Given the description of an element on the screen output the (x, y) to click on. 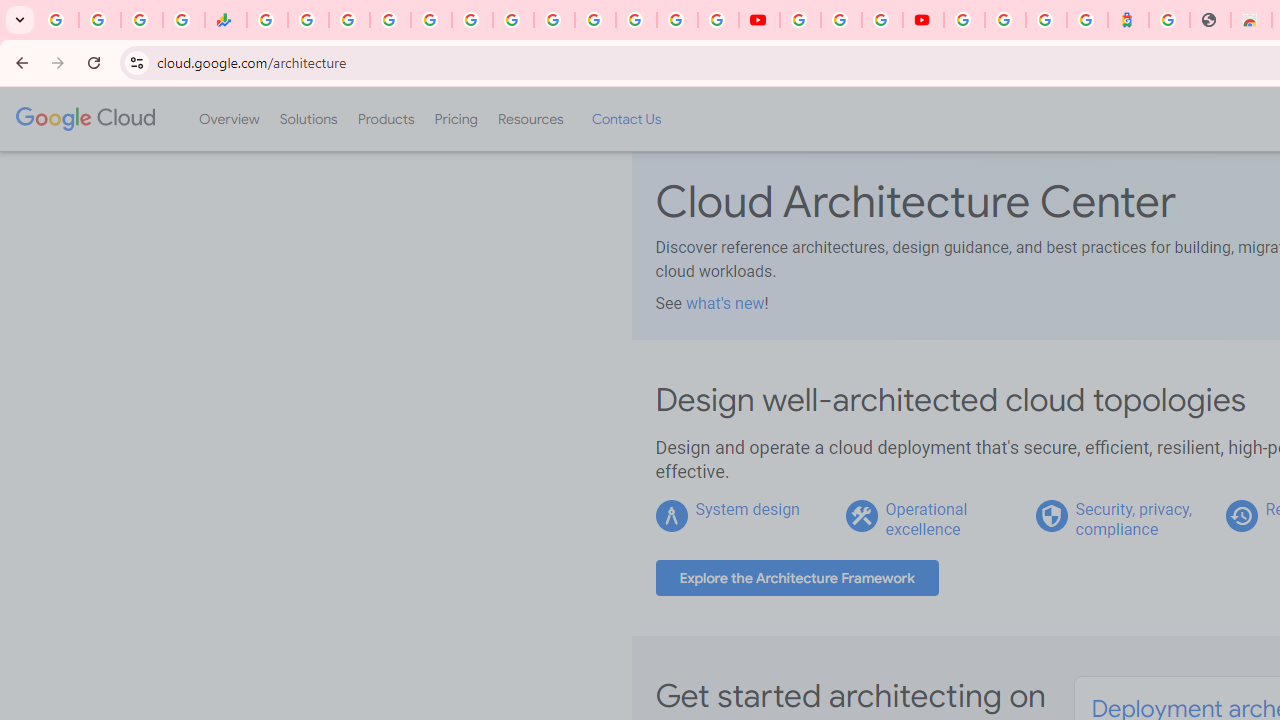
Contact Us (626, 119)
Create your Google Account (881, 20)
Pricing (455, 119)
what's new (724, 303)
Sign in - Google Accounts (389, 20)
Products (385, 119)
Solutions (308, 119)
